Given the description of an element on the screen output the (x, y) to click on. 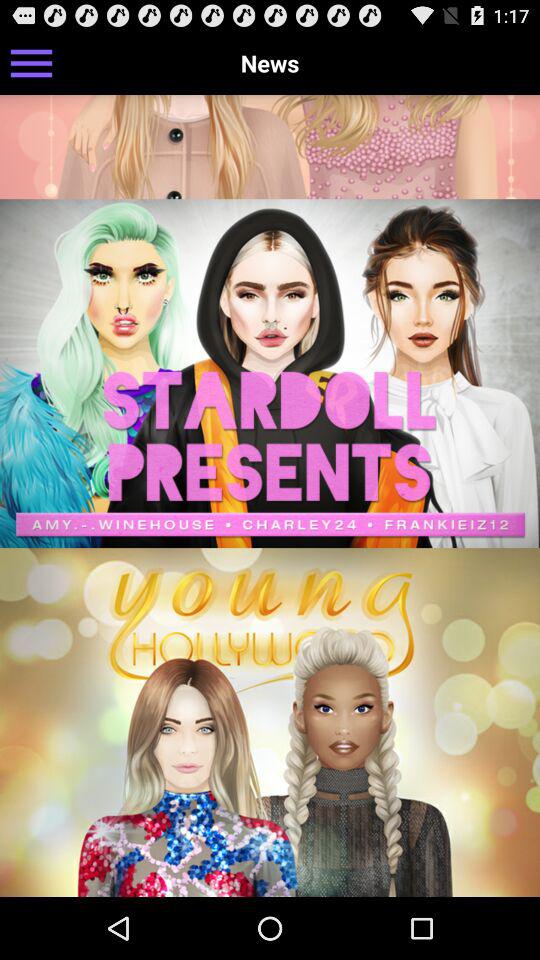
select item to the left of news item (31, 62)
